Given the description of an element on the screen output the (x, y) to click on. 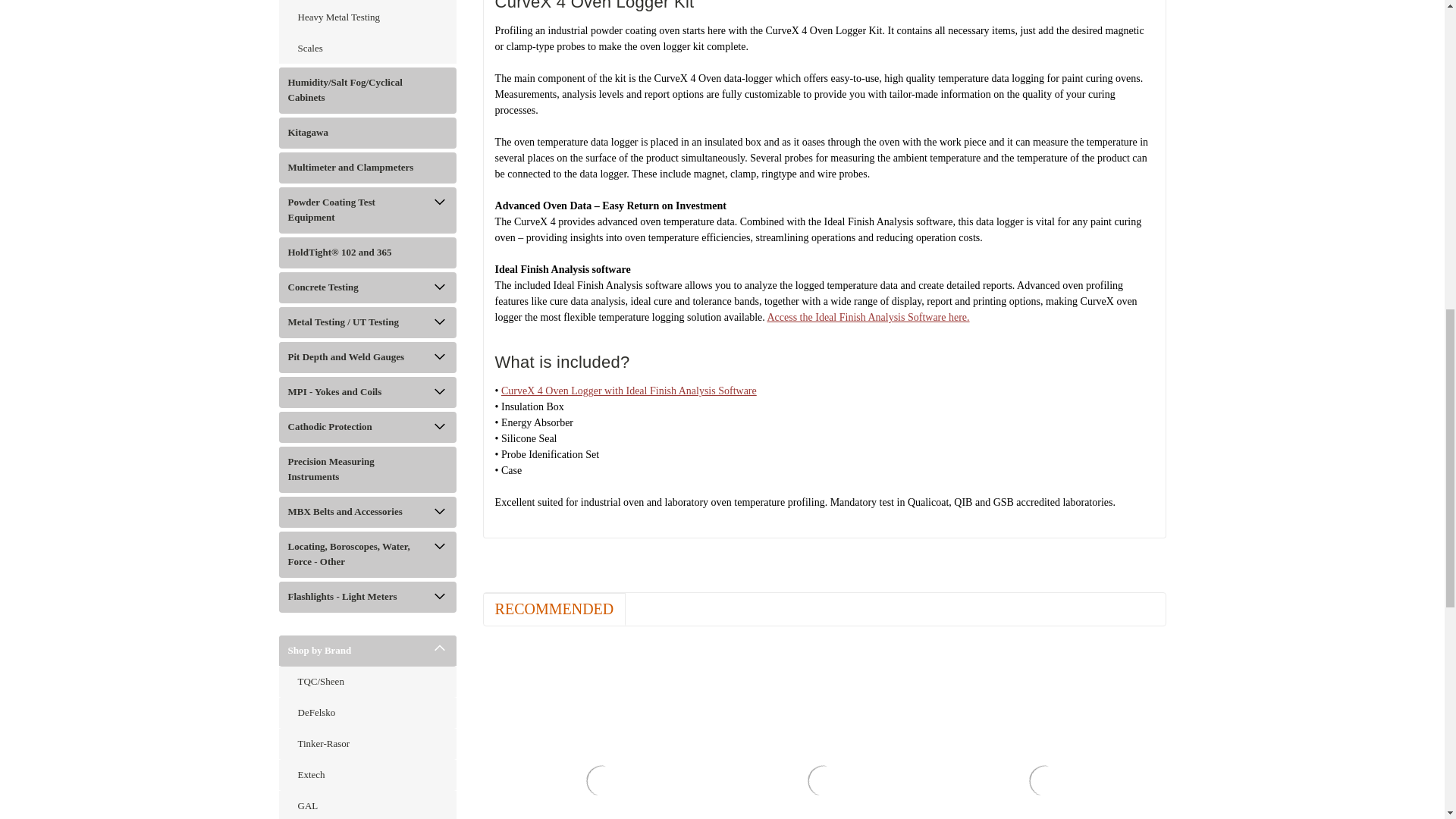
PROBES FOR CURVEX OVEN DATALOGGERS (824, 781)
CurveX Insulation Box Flat (1045, 781)
